Given the description of an element on the screen output the (x, y) to click on. 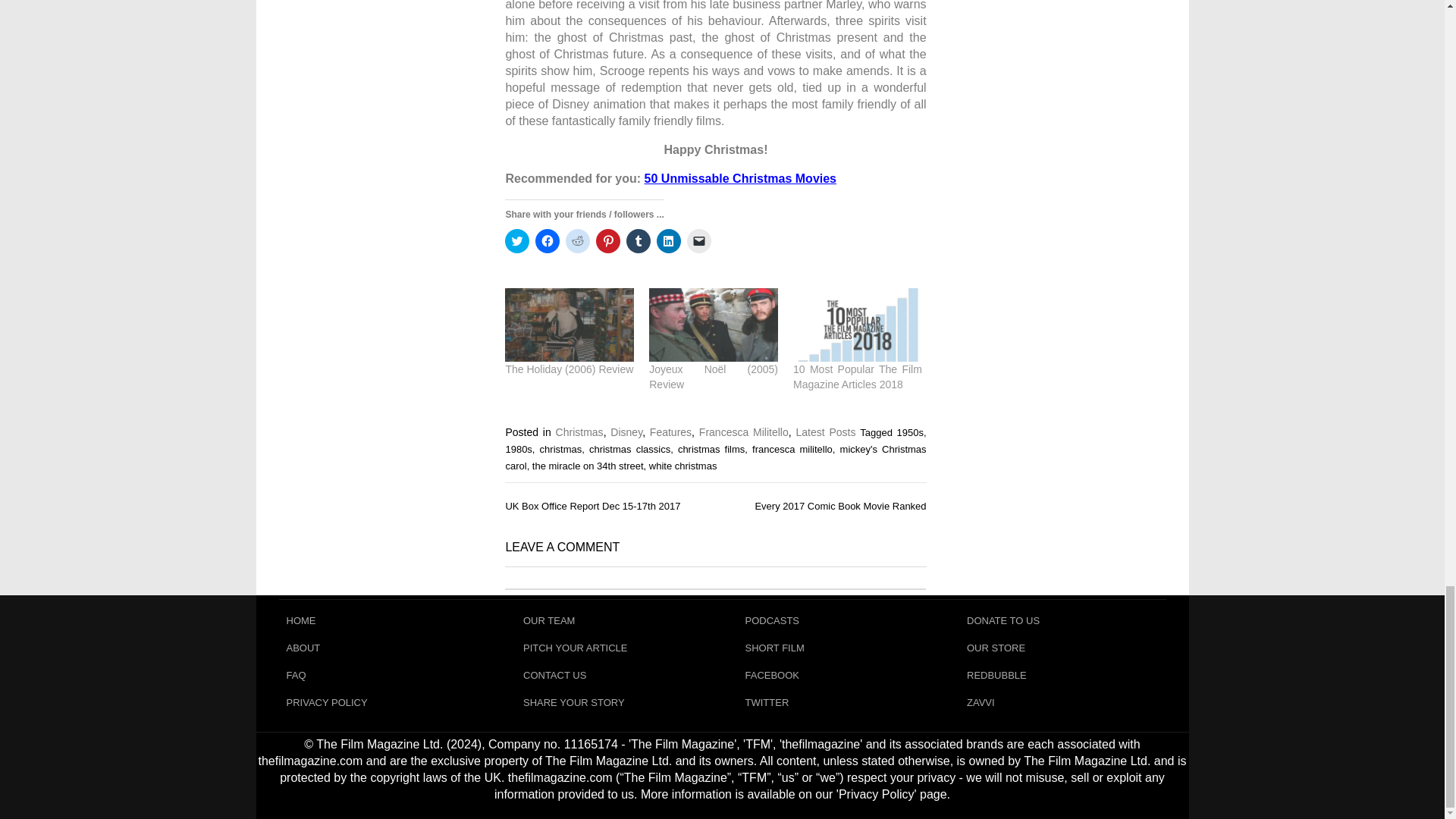
Click to share on Facebook (547, 241)
Click to share on Tumblr (638, 241)
10 Most Popular The Film Magazine Articles 2018 (857, 324)
Click to share on Twitter (517, 241)
Click to email a link to a friend (699, 241)
Click to share on Pinterest (607, 241)
Click to share on LinkedIn (668, 241)
Click to share on Reddit (577, 241)
